Given the description of an element on the screen output the (x, y) to click on. 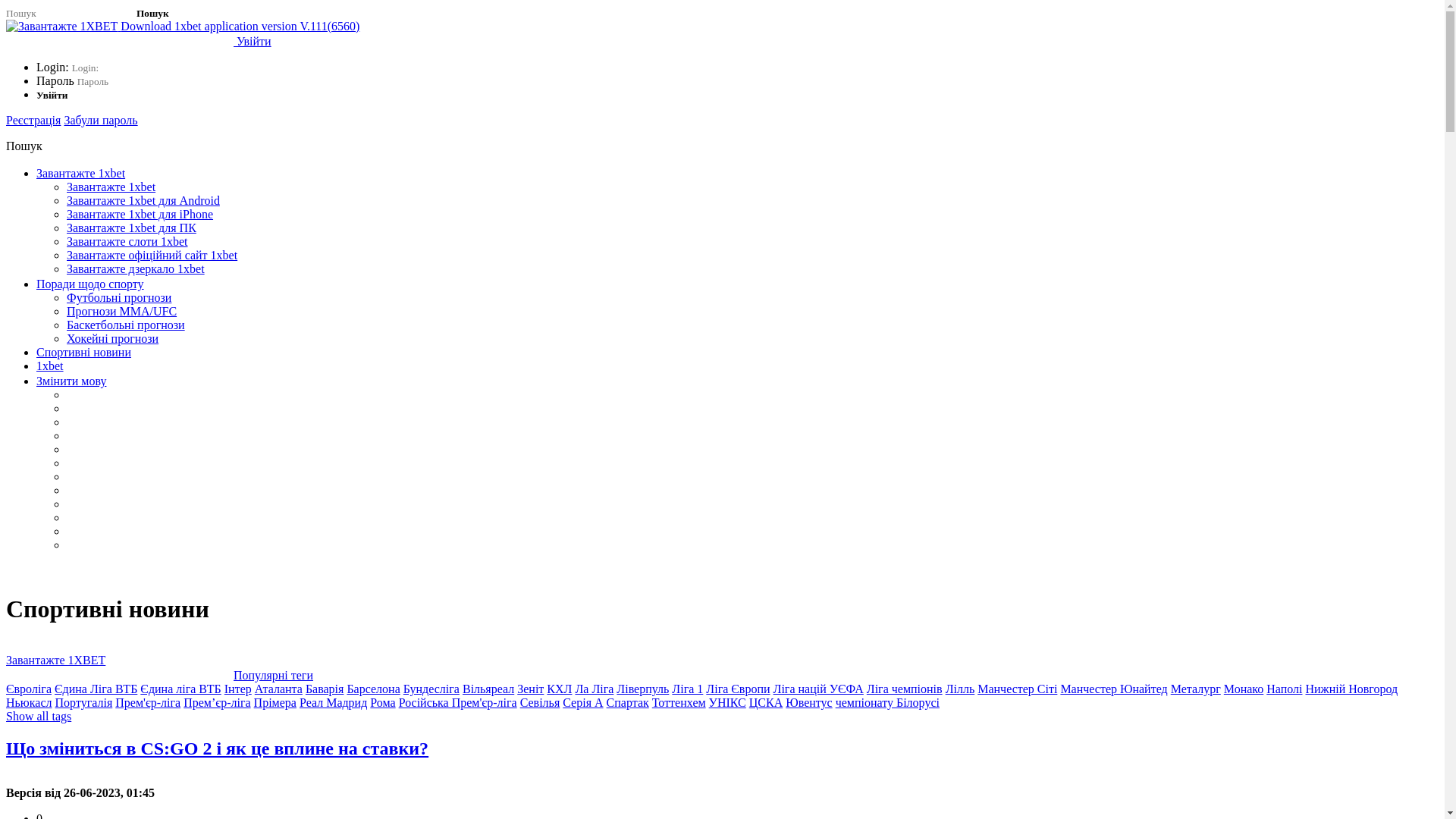
Download 1xbet application version V.111(6560) Element type: text (182, 25)
1xbet Element type: text (49, 365)
Show all tags Element type: text (38, 715)
